Given the description of an element on the screen output the (x, y) to click on. 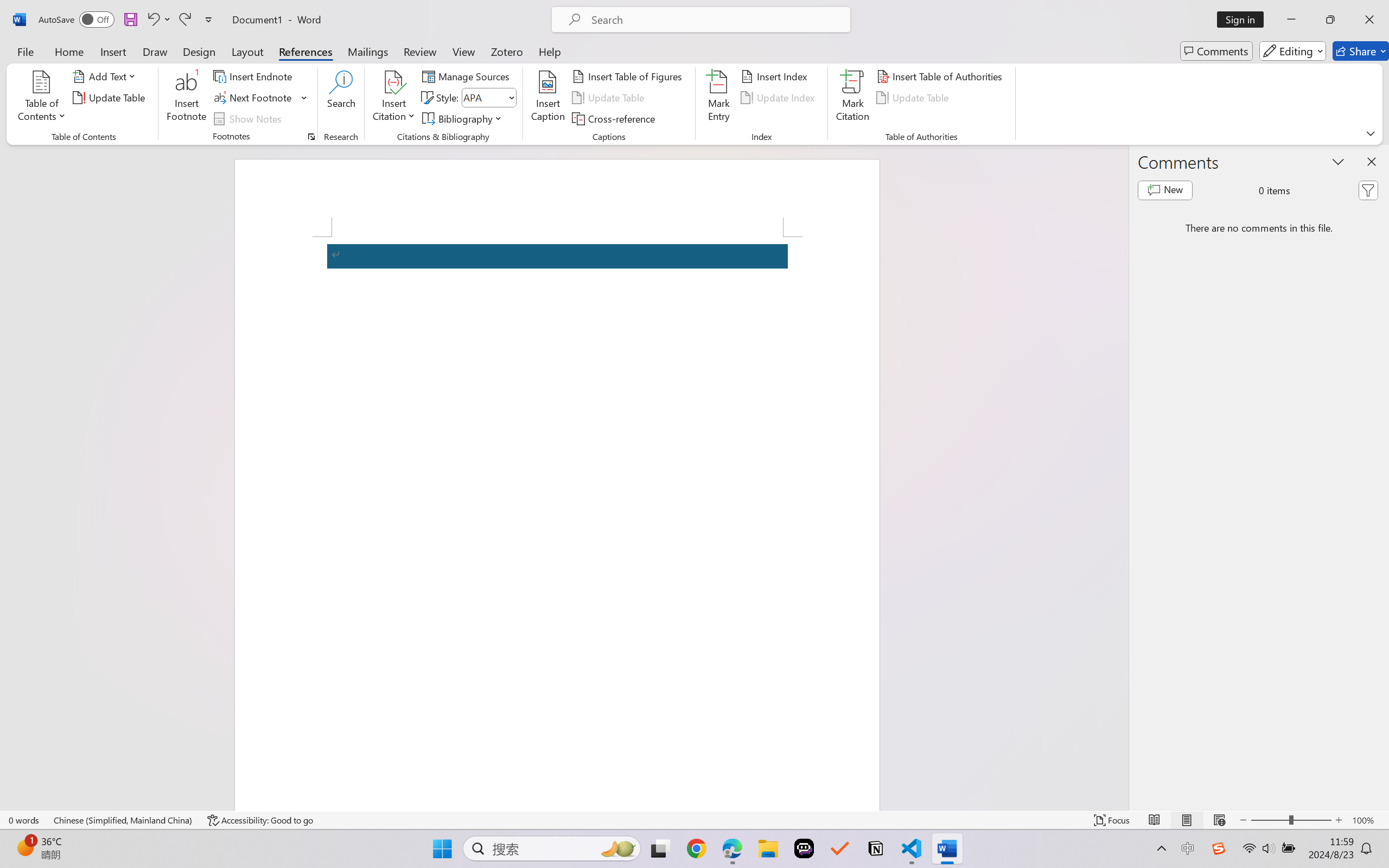
Update Table... (110, 97)
Add Text (106, 75)
Insert Caption... (547, 97)
